Given the description of an element on the screen output the (x, y) to click on. 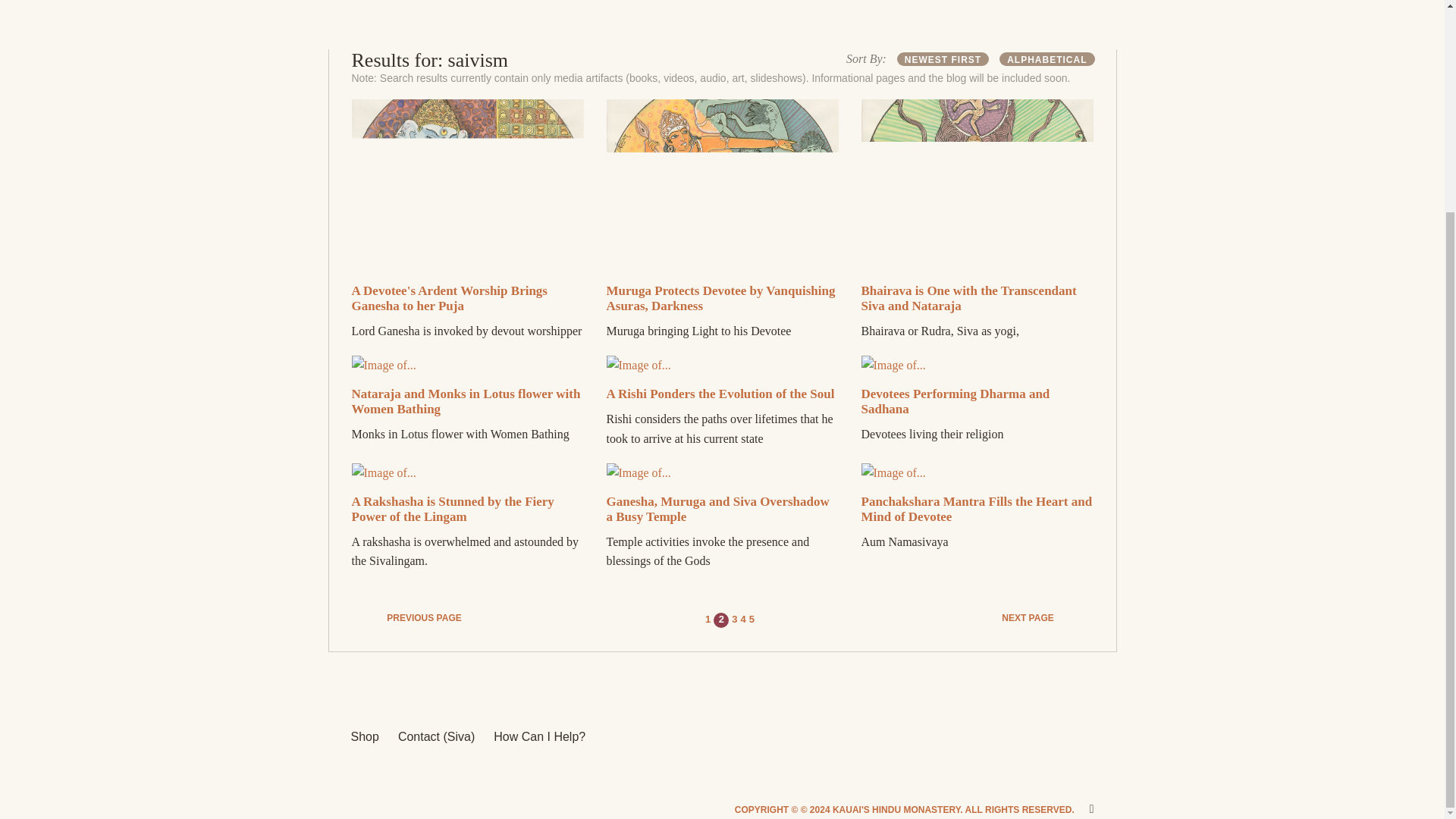
Click for more details on this media item (969, 297)
Click for more details on this media item (977, 509)
Click for more details on this media item (721, 297)
Click for more details on this media item (466, 401)
Click for more details on this media item (718, 509)
Click for more details on this media item (449, 297)
Click for more details on this media item (720, 393)
Click for more details on this media item (453, 509)
Click for more details on this media item (955, 401)
